Given the description of an element on the screen output the (x, y) to click on. 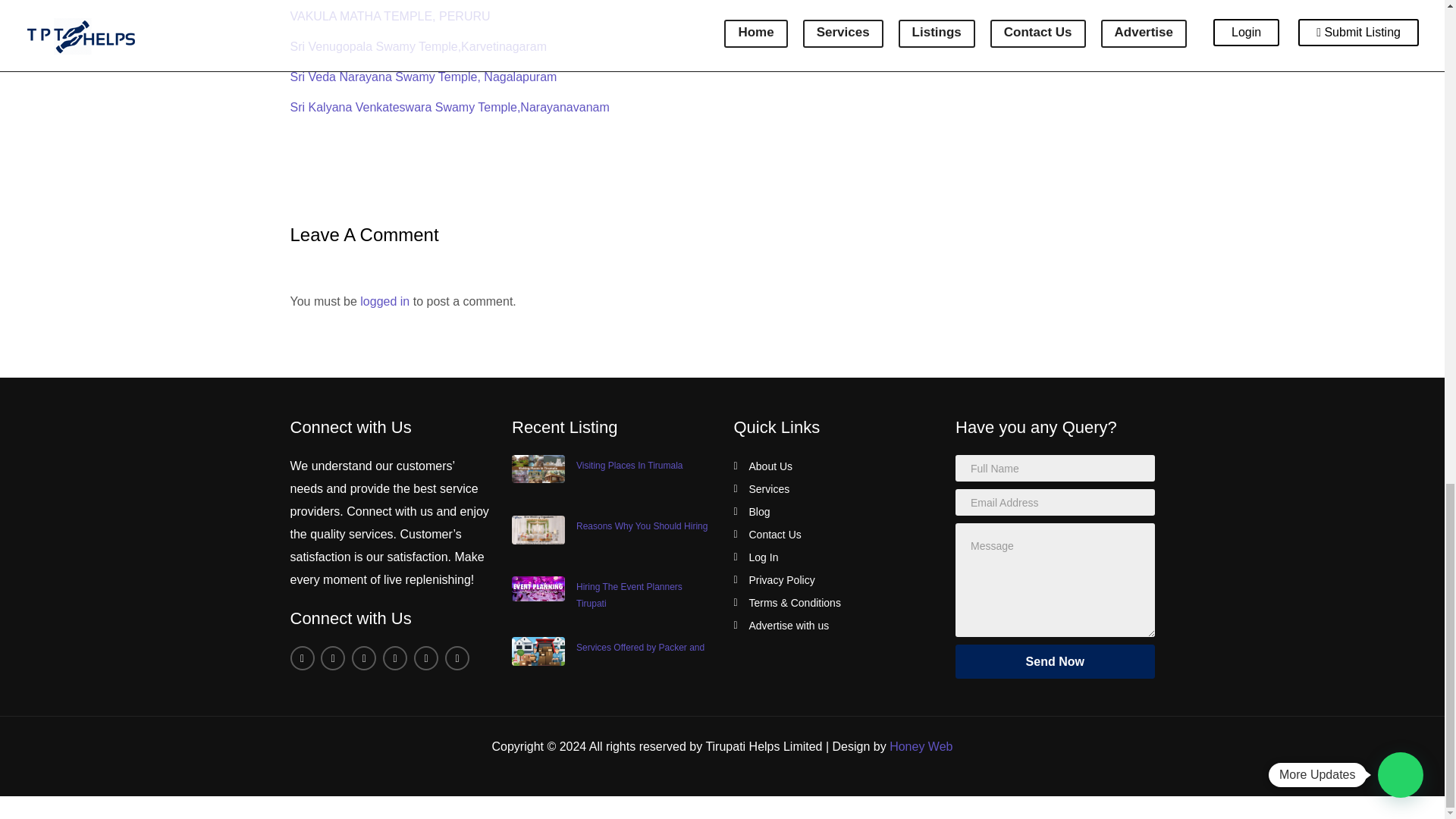
VAKULA MATHA TEMPLE, PERURU (389, 15)
Sri Venugopala Swamy Temple,Karvetinagaram (418, 46)
Blog (751, 511)
logged in (384, 300)
Services Offered by Packer and (640, 647)
Reasons Why You Should Hiring (641, 525)
Hiring The Event Planners Tirupati (629, 595)
Sri Veda Narayana Swamy Temple, Nagalapuram (422, 76)
Services (761, 488)
About Us (763, 466)
Visiting Places In Tirumala (629, 465)
Contact Us (767, 534)
Sri Kalyana Venkateswara Swamy Temple,Narayanavanam (448, 106)
Send Now (1054, 661)
Log In (755, 557)
